Given the description of an element on the screen output the (x, y) to click on. 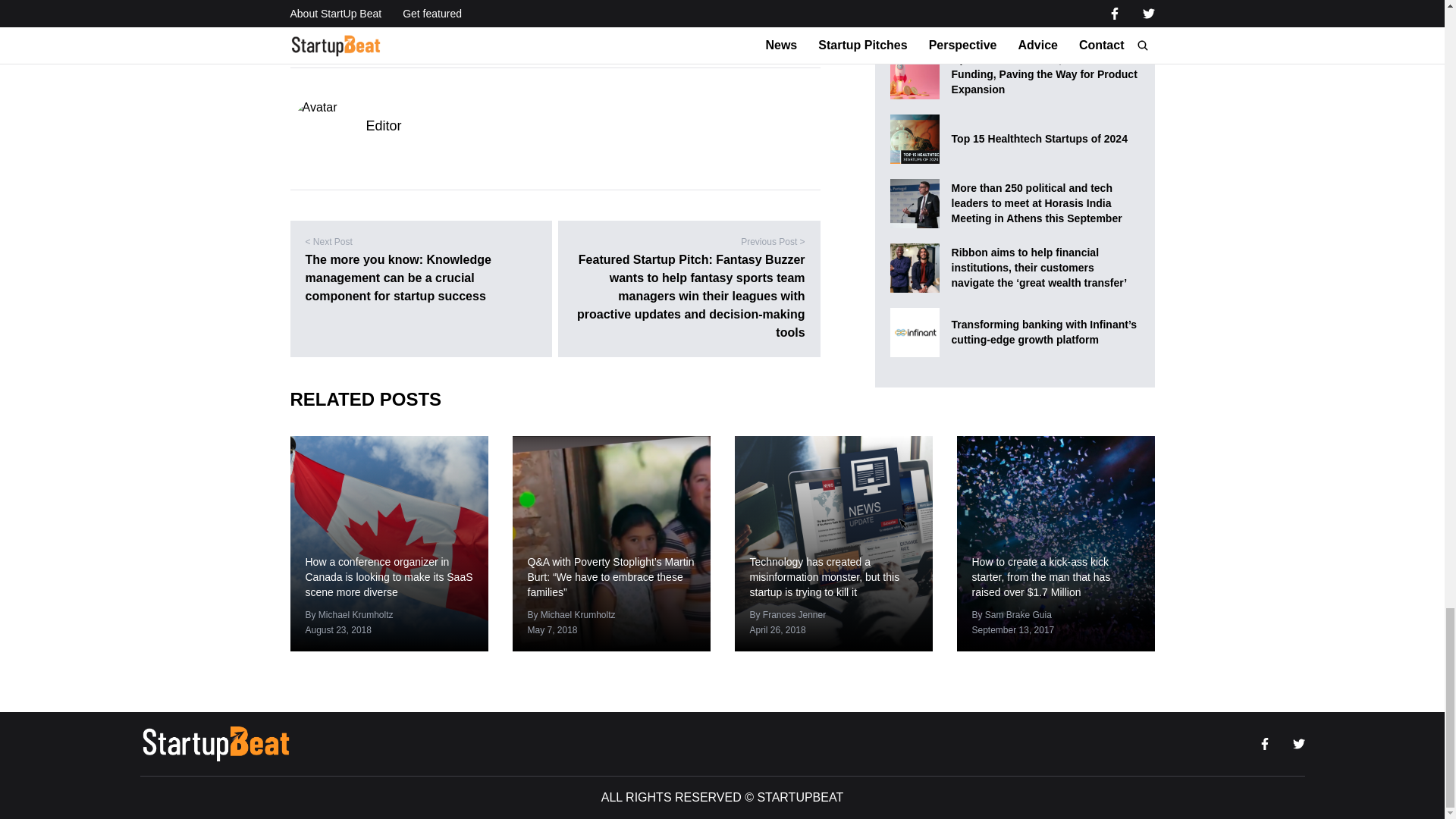
Editor (383, 125)
